Given the description of an element on the screen output the (x, y) to click on. 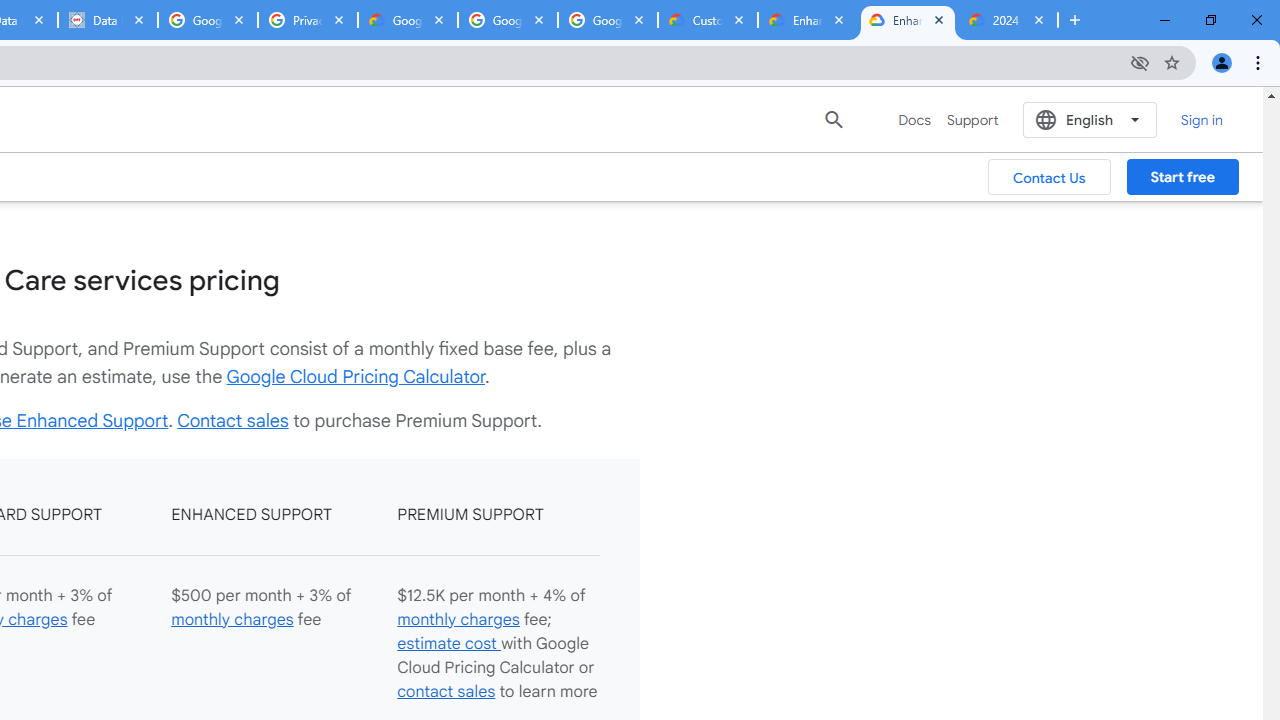
contact sales (446, 691)
monthly charges (457, 619)
Assured Support (485, 76)
